Given the description of an element on the screen output the (x, y) to click on. 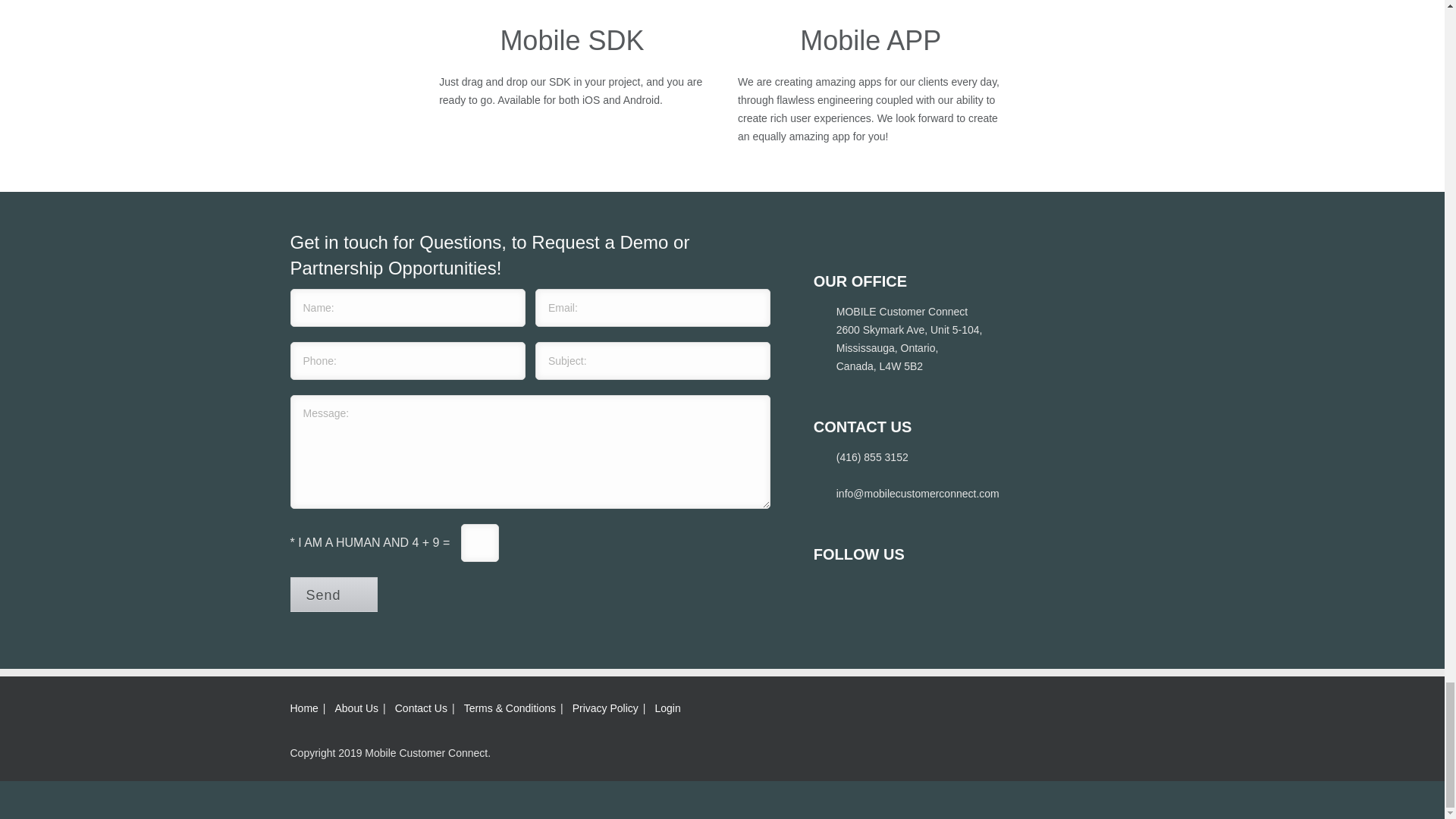
Home (303, 707)
About Us (356, 707)
Facebook (825, 587)
View LinkedIn Profile (858, 587)
Send (333, 594)
LinkedIn (858, 587)
Contact Us (420, 707)
Follow on Facebook (825, 587)
Privacy Policy (605, 707)
